Given the description of an element on the screen output the (x, y) to click on. 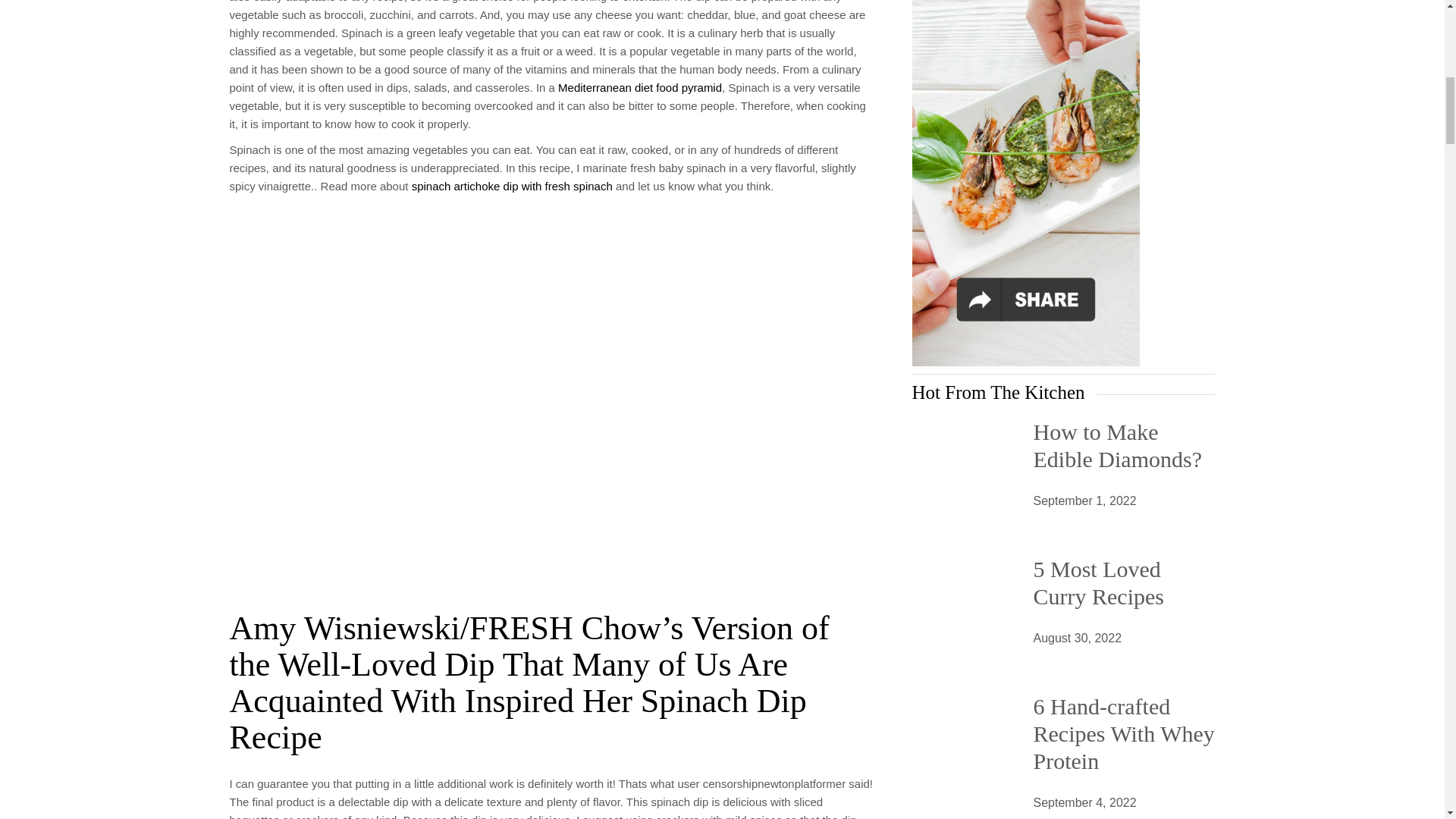
Title Text:  (1076, 638)
spinach artichoke dip with fresh spinach (512, 185)
Title Text:  (1083, 501)
Mediterranean diet food pyramid (639, 87)
Title Text:  (1083, 803)
